Given the description of an element on the screen output the (x, y) to click on. 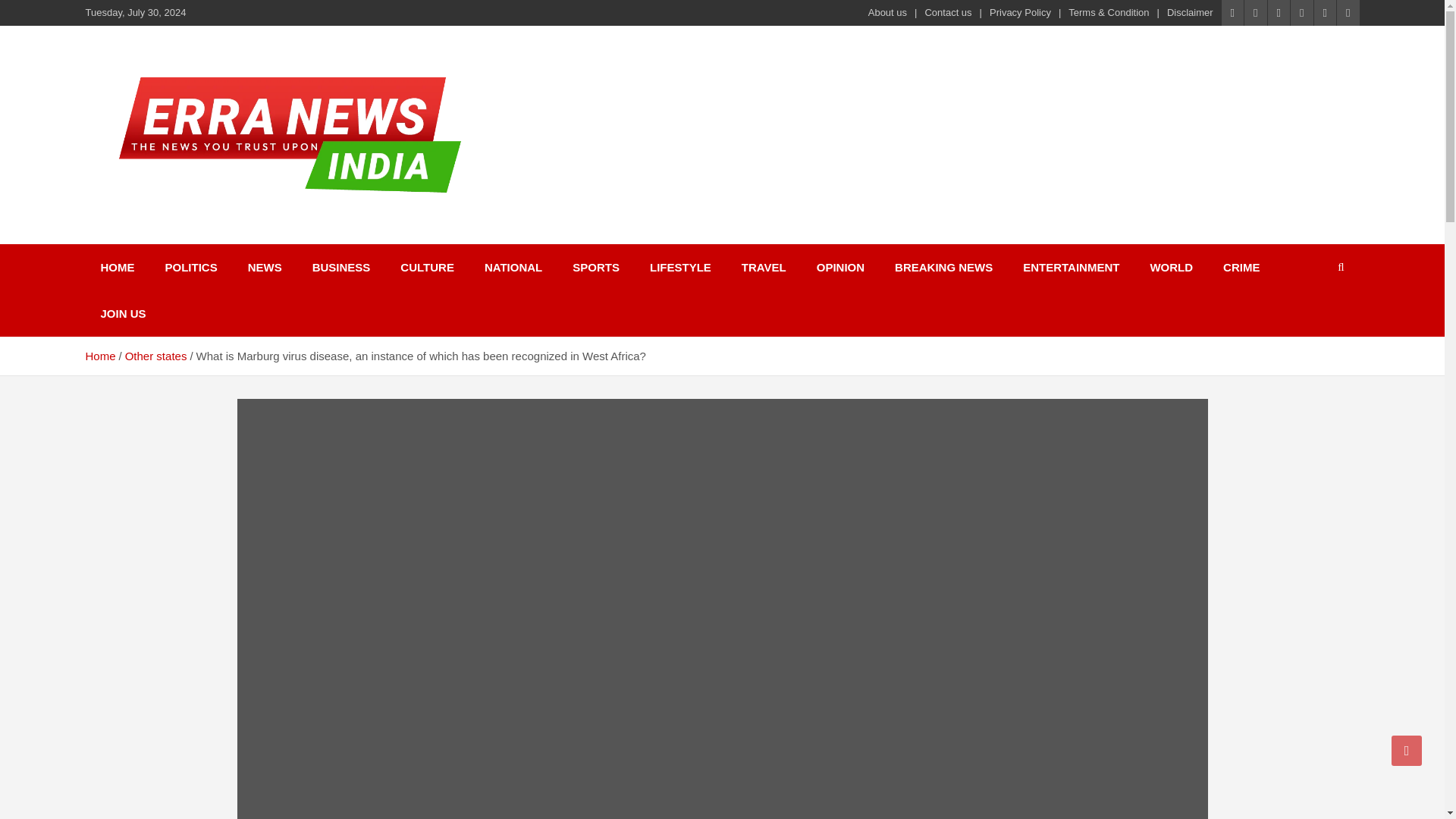
Home (99, 355)
SPORTS (595, 267)
OPINION (840, 267)
CULTURE (426, 267)
Other states (156, 355)
Erranewsindia (188, 233)
HOME (116, 267)
CRIME (1241, 267)
BUSINESS (341, 267)
NATIONAL (512, 267)
POLITICS (190, 267)
ENTERTAINMENT (1070, 267)
NEWS (264, 267)
Privacy Policy (1020, 12)
Contact us (947, 12)
